Given the description of an element on the screen output the (x, y) to click on. 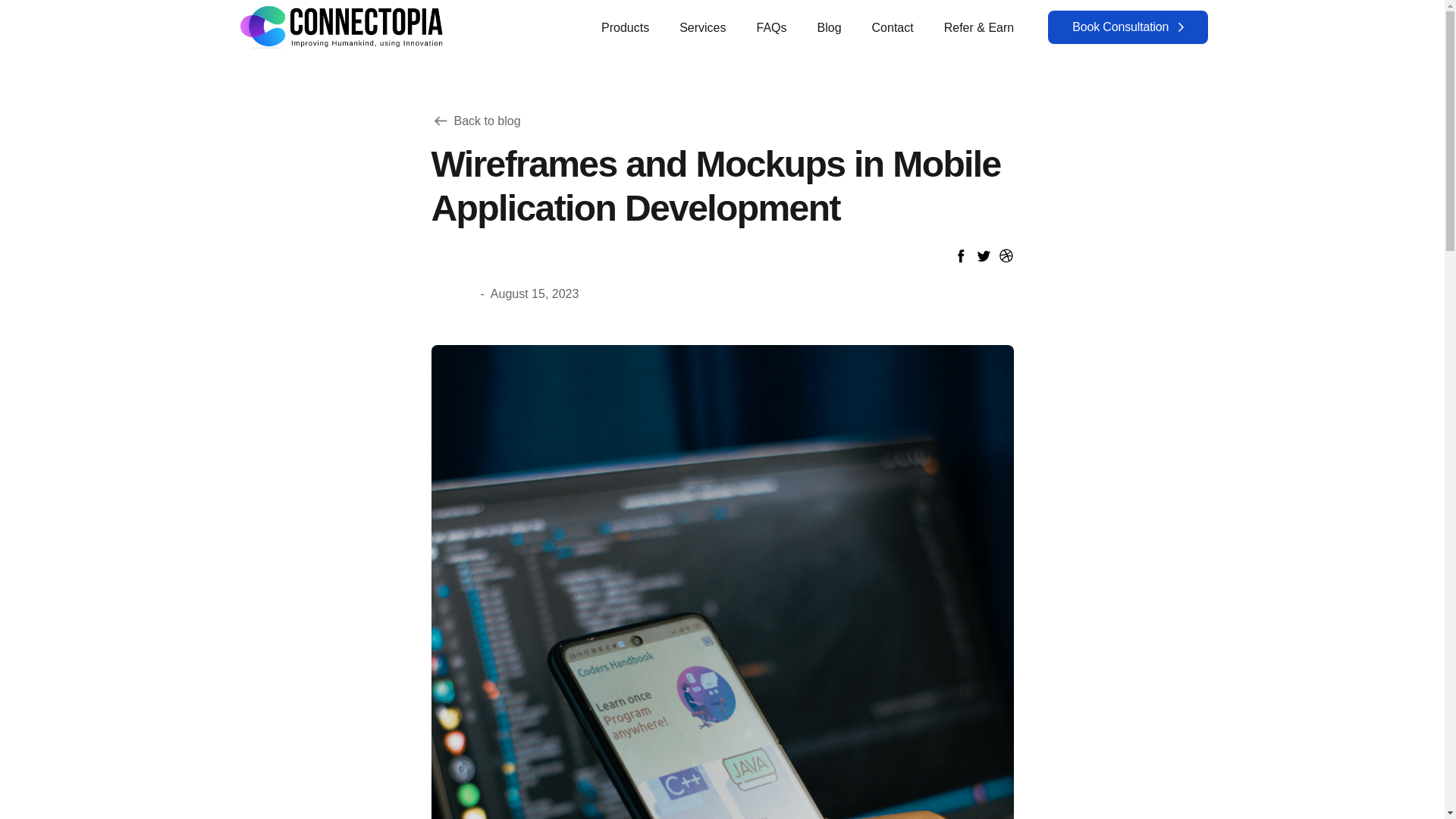
Contact (893, 28)
Blog (828, 28)
Services (702, 28)
Products (625, 28)
FAQs (772, 28)
Back to blog (474, 120)
Book Consultation (1127, 27)
